Given the description of an element on the screen output the (x, y) to click on. 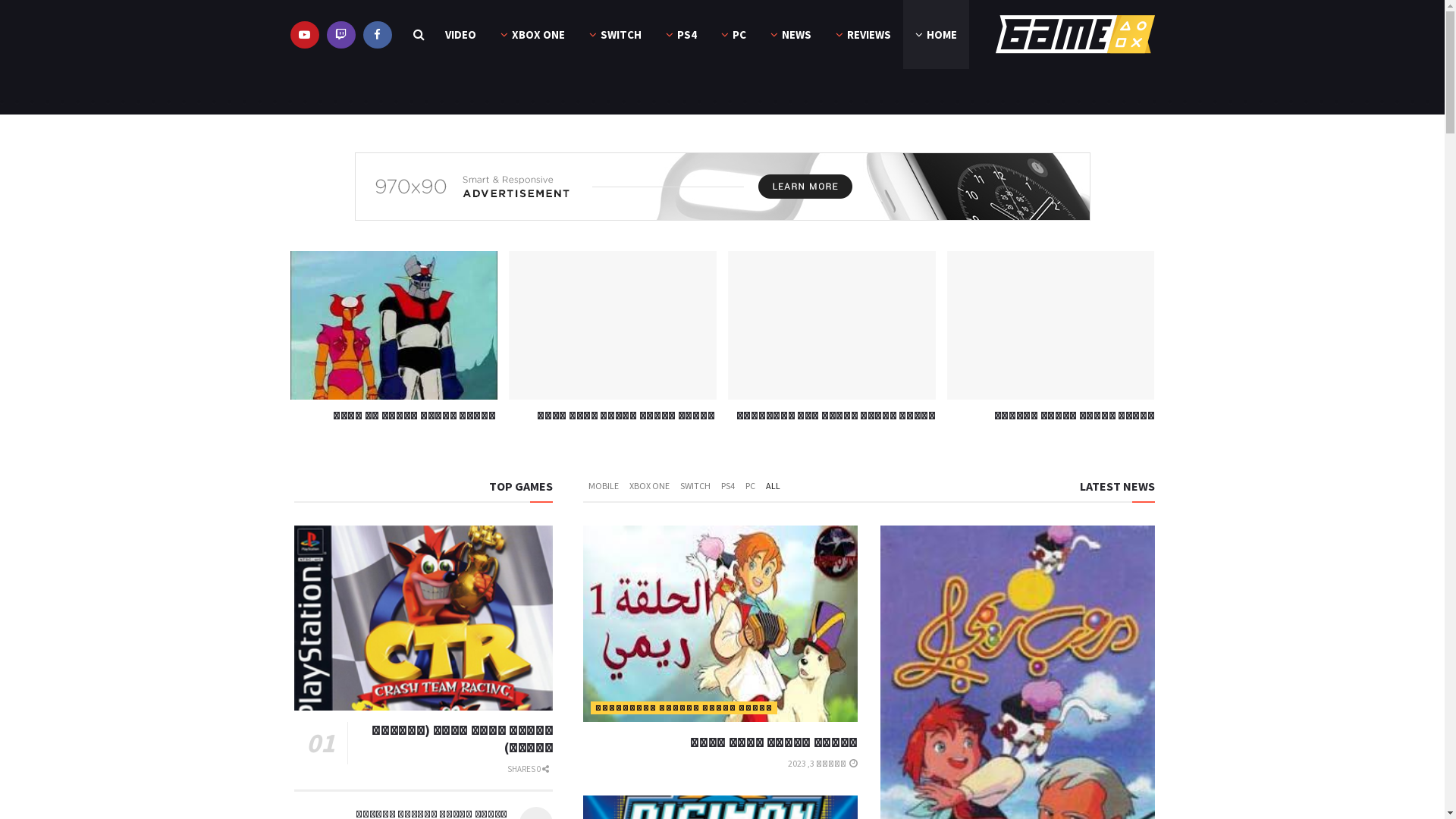
HOME Element type: text (935, 34)
XBOX ONE Element type: text (532, 34)
VIDEO Element type: text (459, 34)
MOBILE Element type: text (603, 485)
XBOX ONE Element type: text (649, 485)
PC Element type: text (750, 485)
SWITCH Element type: text (694, 485)
PC Element type: text (732, 34)
NEWS Element type: text (790, 34)
SWITCH Element type: text (614, 34)
PS4 Element type: text (681, 34)
ALL Element type: text (772, 485)
PS4 Element type: text (727, 485)
REVIEWS Element type: text (863, 34)
